Given the description of an element on the screen output the (x, y) to click on. 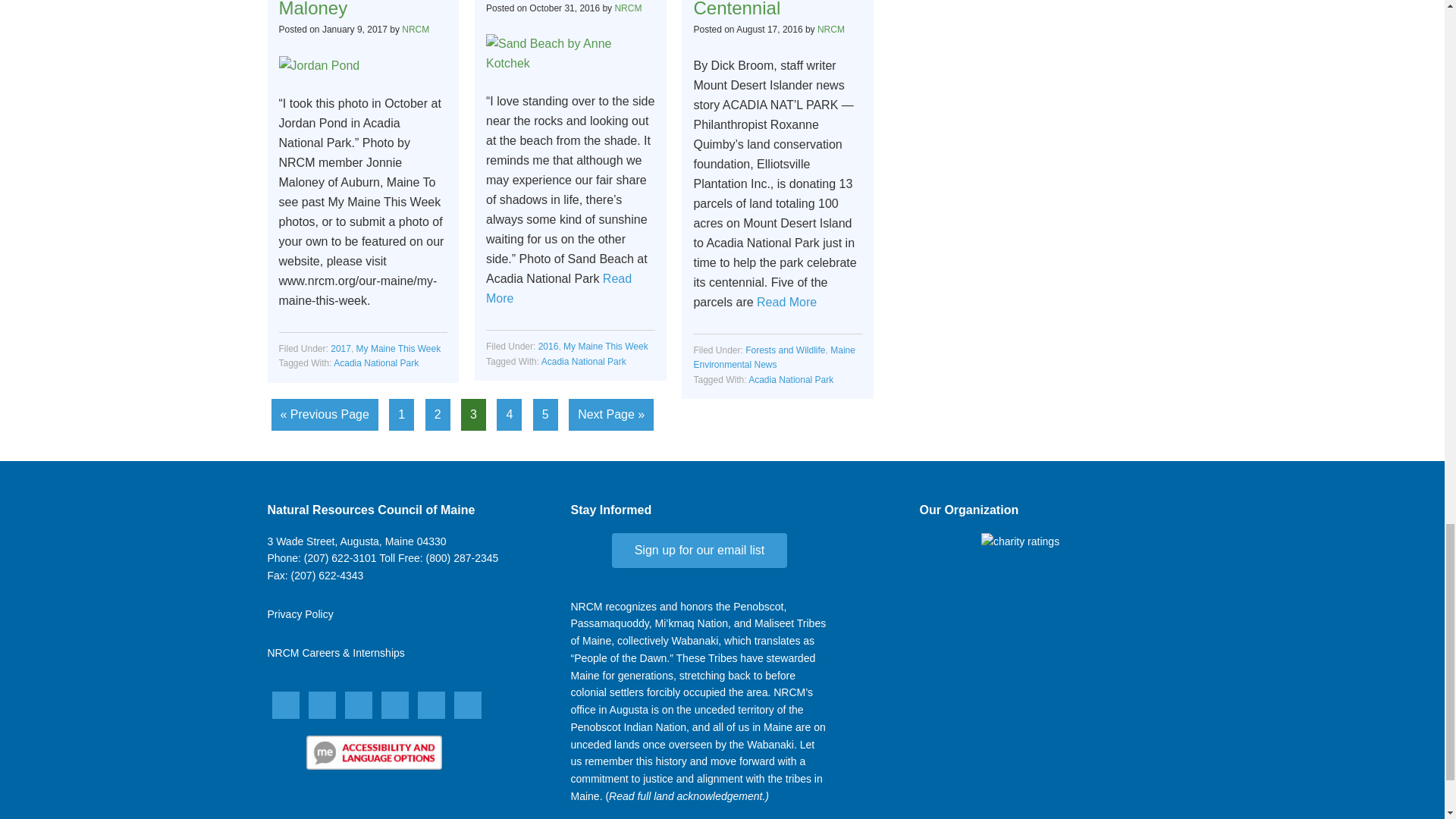
Contact Us (355, 541)
Read More (786, 301)
Read More (558, 287)
